Given the description of an element on the screen output the (x, y) to click on. 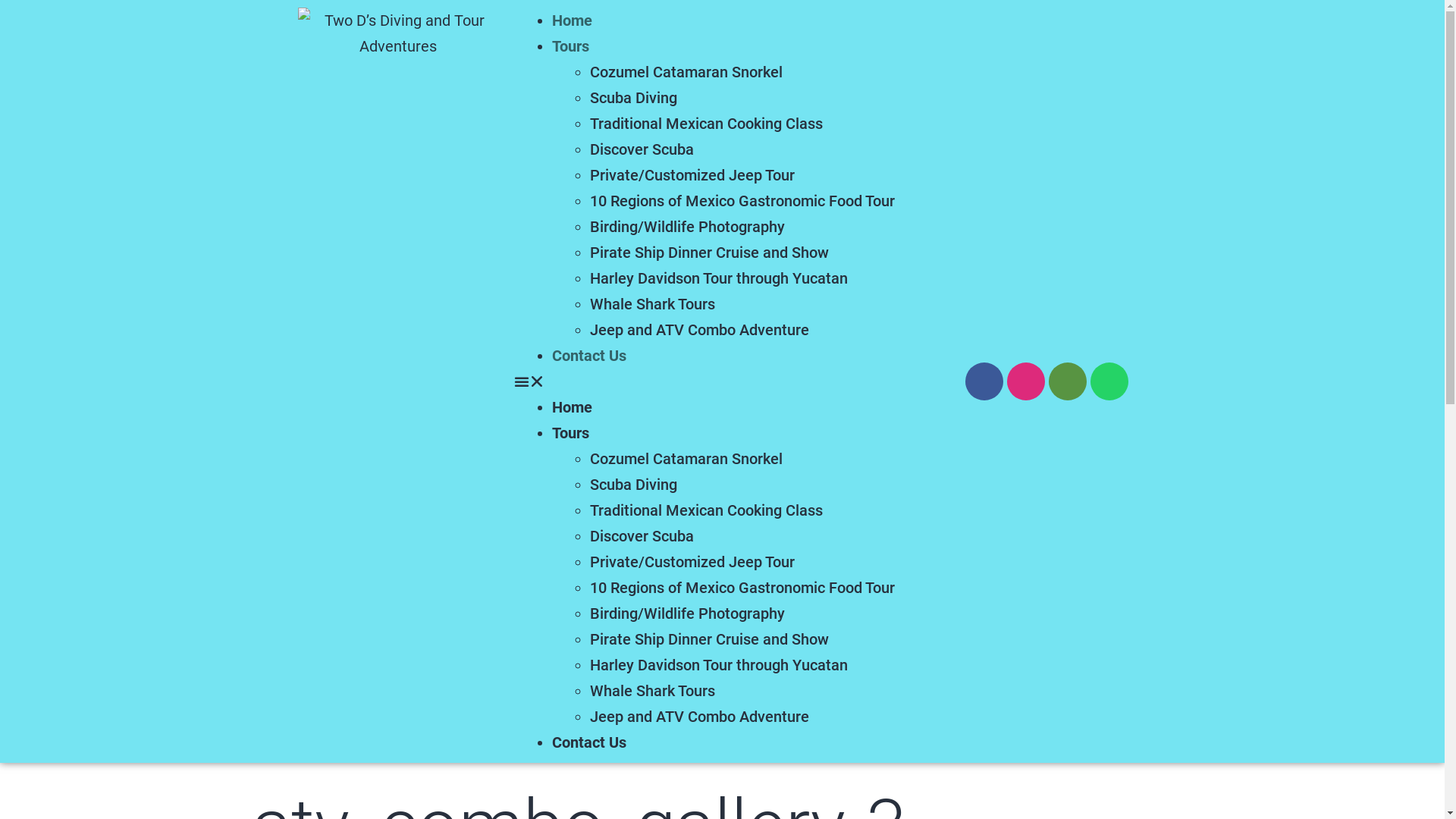
Contact Us Element type: text (589, 355)
Pirate Ship Dinner Cruise and Show Element type: text (708, 252)
Jeep and ATV Combo Adventure Element type: text (699, 329)
Cozumel Catamaran Snorkel Element type: text (685, 71)
Scuba Diving Element type: text (633, 97)
Private/Customized Jeep Tour Element type: text (691, 561)
Traditional Mexican Cooking Class Element type: text (705, 510)
Traditional Mexican Cooking Class Element type: text (705, 123)
Tours Element type: text (570, 46)
Birding/Wildlife Photography Element type: text (686, 226)
Cozumel Catamaran Snorkel Element type: text (685, 458)
Harley Davidson Tour through Yucatan Element type: text (718, 664)
10 Regions of Mexico Gastronomic Food Tour  Element type: text (743, 200)
Whale Shark Tours Element type: text (652, 303)
10 Regions of Mexico Gastronomic Food Tour  Element type: text (743, 587)
Private/Customized Jeep Tour Element type: text (691, 175)
Jeep and ATV Combo Adventure Element type: text (699, 716)
Discover Scuba Element type: text (641, 149)
Whale Shark Tours Element type: text (652, 690)
Contact Us Element type: text (589, 742)
Tours Element type: text (570, 432)
Home Element type: text (572, 20)
Discover Scuba Element type: text (641, 536)
Scuba Diving Element type: text (633, 484)
Home Element type: text (572, 407)
Pirate Ship Dinner Cruise and Show Element type: text (708, 639)
Harley Davidson Tour through Yucatan Element type: text (718, 278)
Birding/Wildlife Photography Element type: text (686, 613)
